Given the description of an element on the screen output the (x, y) to click on. 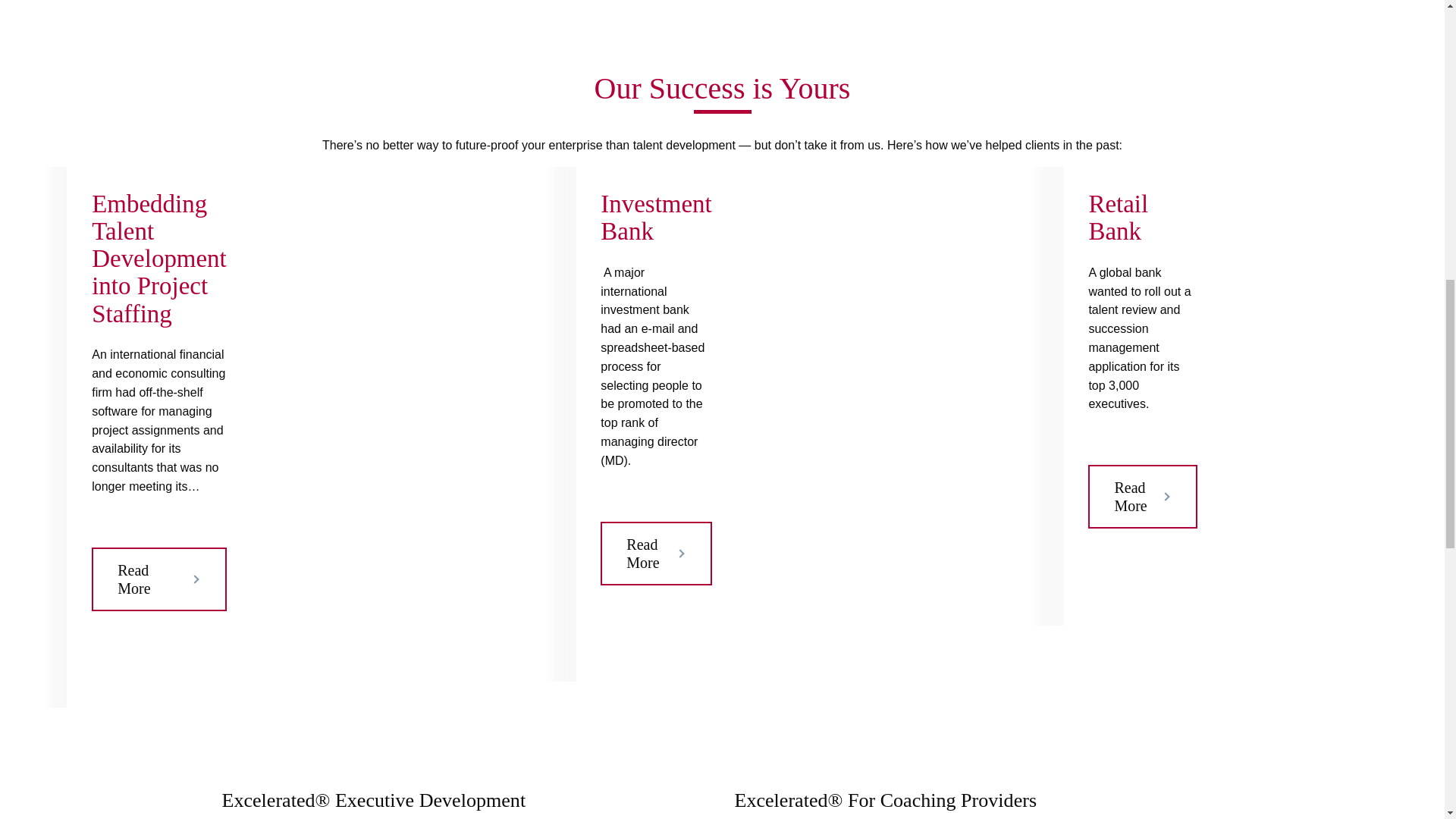
Read More (655, 553)
Read More (1141, 496)
Read More (159, 578)
